Given the description of an element on the screen output the (x, y) to click on. 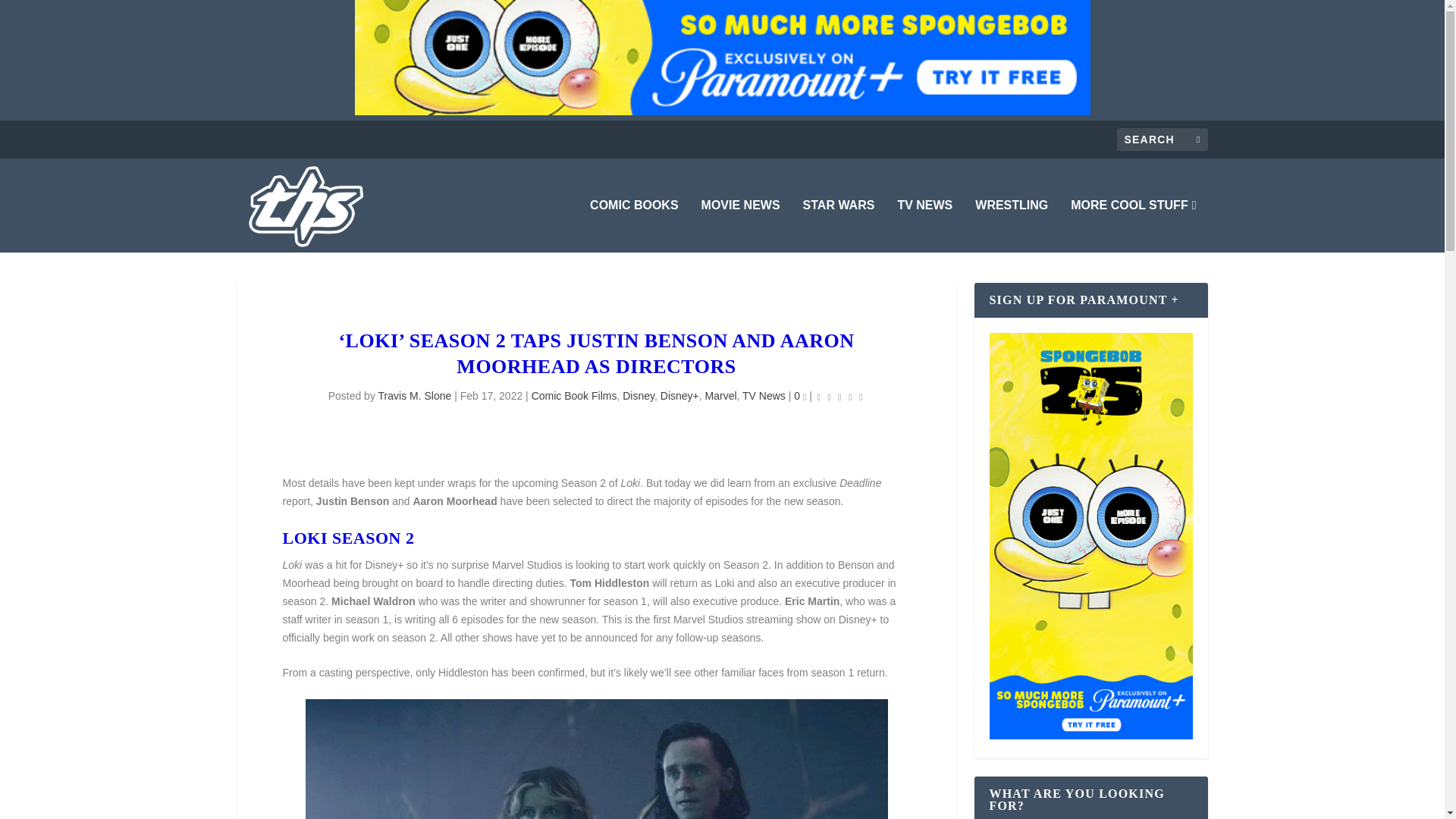
Marvel (720, 395)
Search for: (1161, 138)
Travis M. Slone (414, 395)
WRESTLING (1011, 225)
0 (799, 395)
MORE COOL STUFF (1132, 225)
STAR WARS (839, 225)
MOVIE NEWS (740, 225)
Rating: 0.00 (839, 396)
TV News (764, 395)
Comic Book Films (574, 395)
Posts by Travis M. Slone (414, 395)
Disney (638, 395)
COMIC BOOKS (633, 225)
TV NEWS (924, 225)
